Given the description of an element on the screen output the (x, y) to click on. 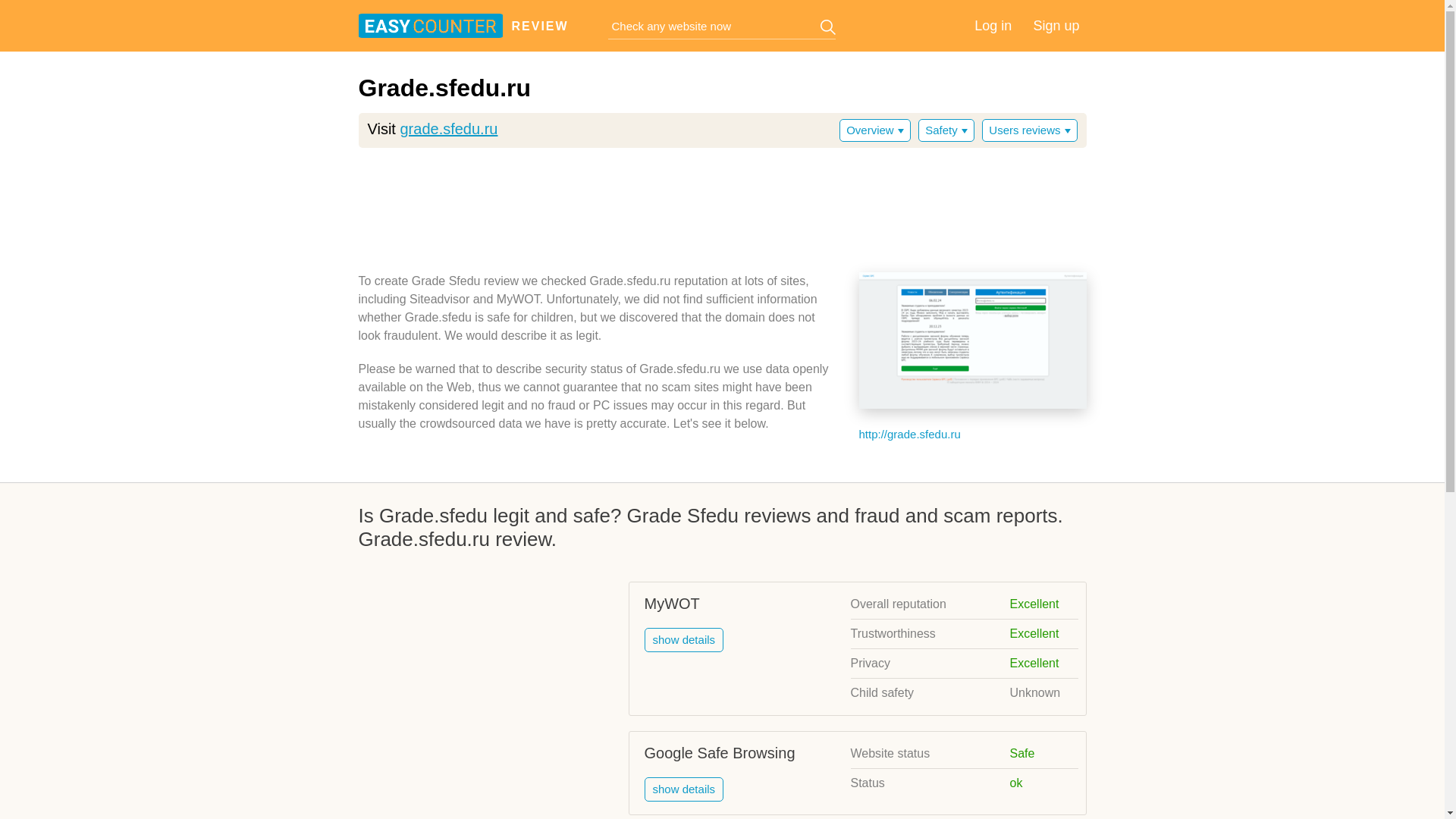
show details (684, 639)
Users reviews (1029, 129)
Advertisement (722, 204)
REVIEW (529, 26)
Safety (946, 129)
Log in (992, 25)
Advertisement (485, 687)
show details (684, 789)
Sign up (1056, 25)
Grade.sfedu.ru thumbnail (972, 339)
